Given the description of an element on the screen output the (x, y) to click on. 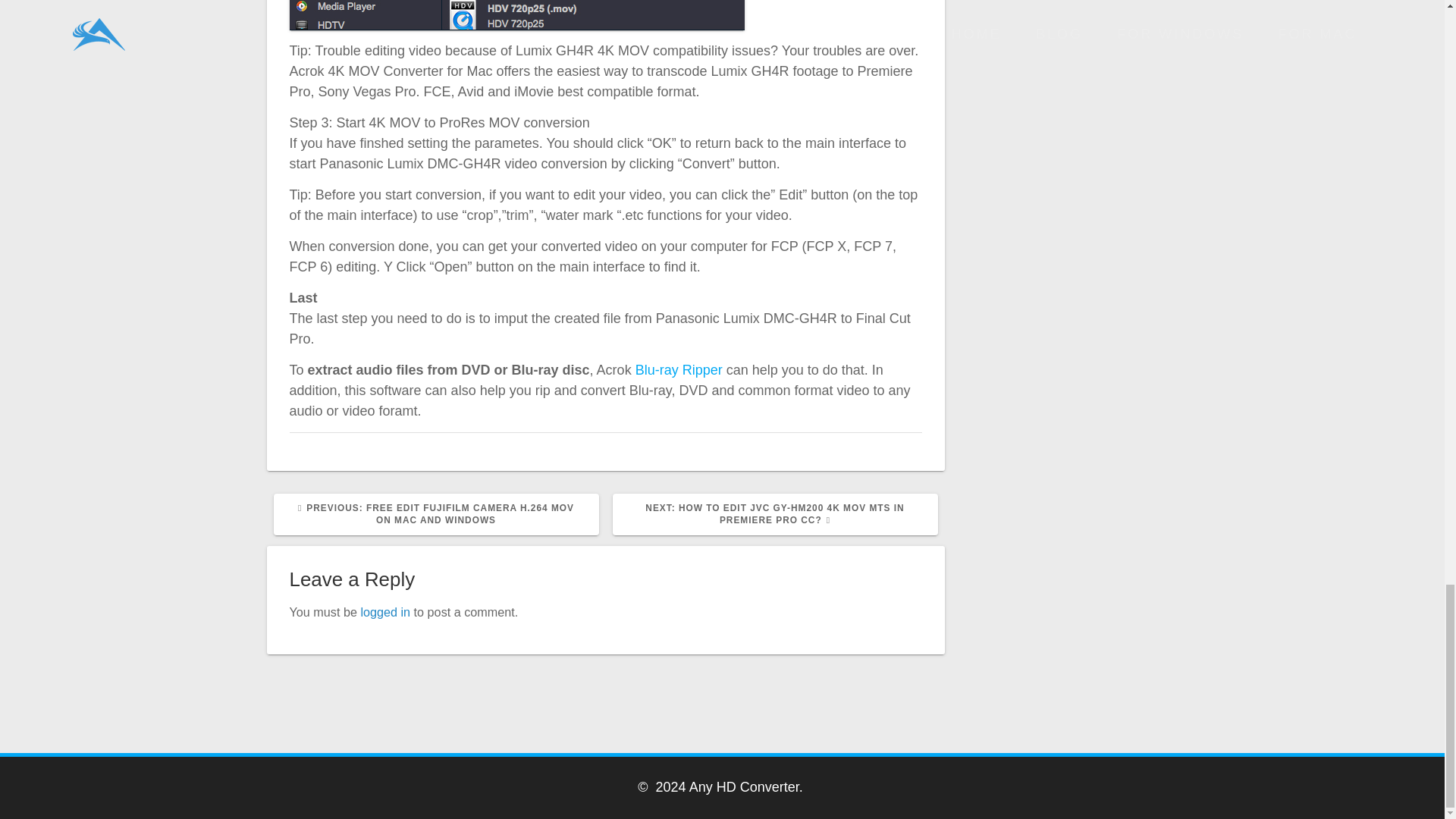
logged in (384, 612)
Blu-ray Ripper (678, 369)
